Given the description of an element on the screen output the (x, y) to click on. 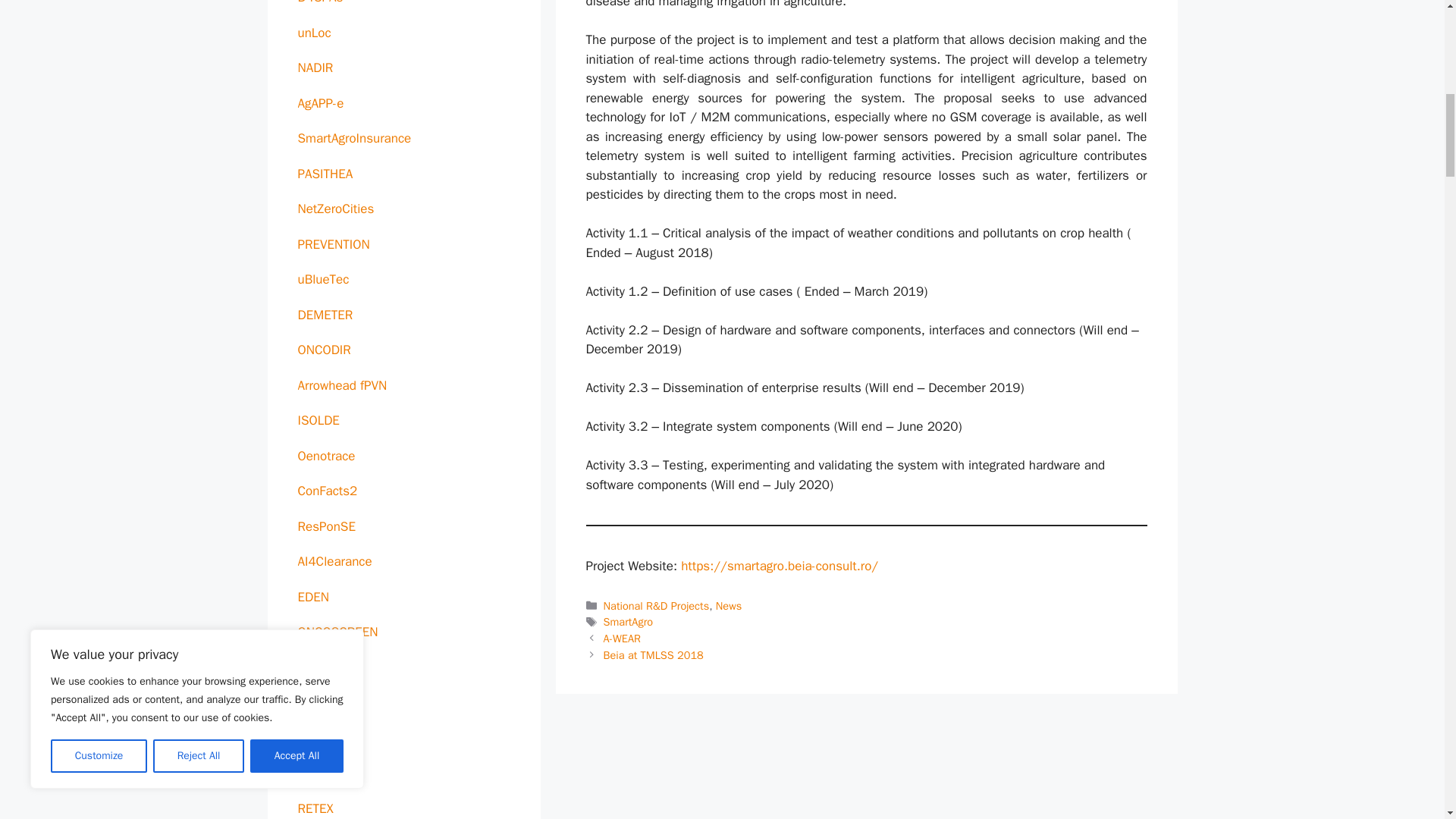
News (728, 605)
Beia at TMLSS 2018 (653, 654)
SmartAgro (628, 621)
A-WEAR (622, 638)
